Given the description of an element on the screen output the (x, y) to click on. 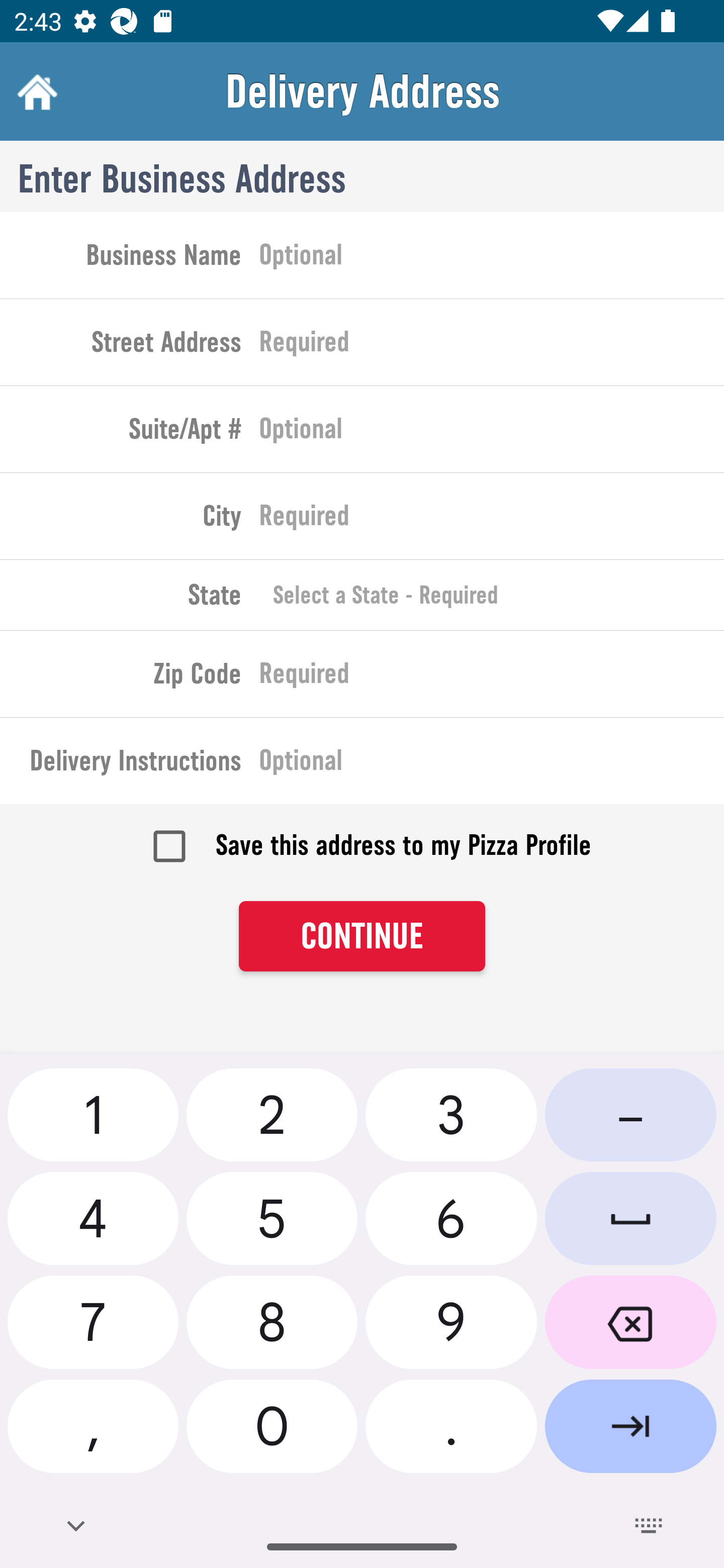
Home (35, 91)
Optional (491, 258)
Required (491, 345)
Optional (491, 432)
Required (491, 519)
Select a State - Required (491, 594)
Required (491, 677)
Optional (491, 764)
CONTINUE (361, 936)
